Given the description of an element on the screen output the (x, y) to click on. 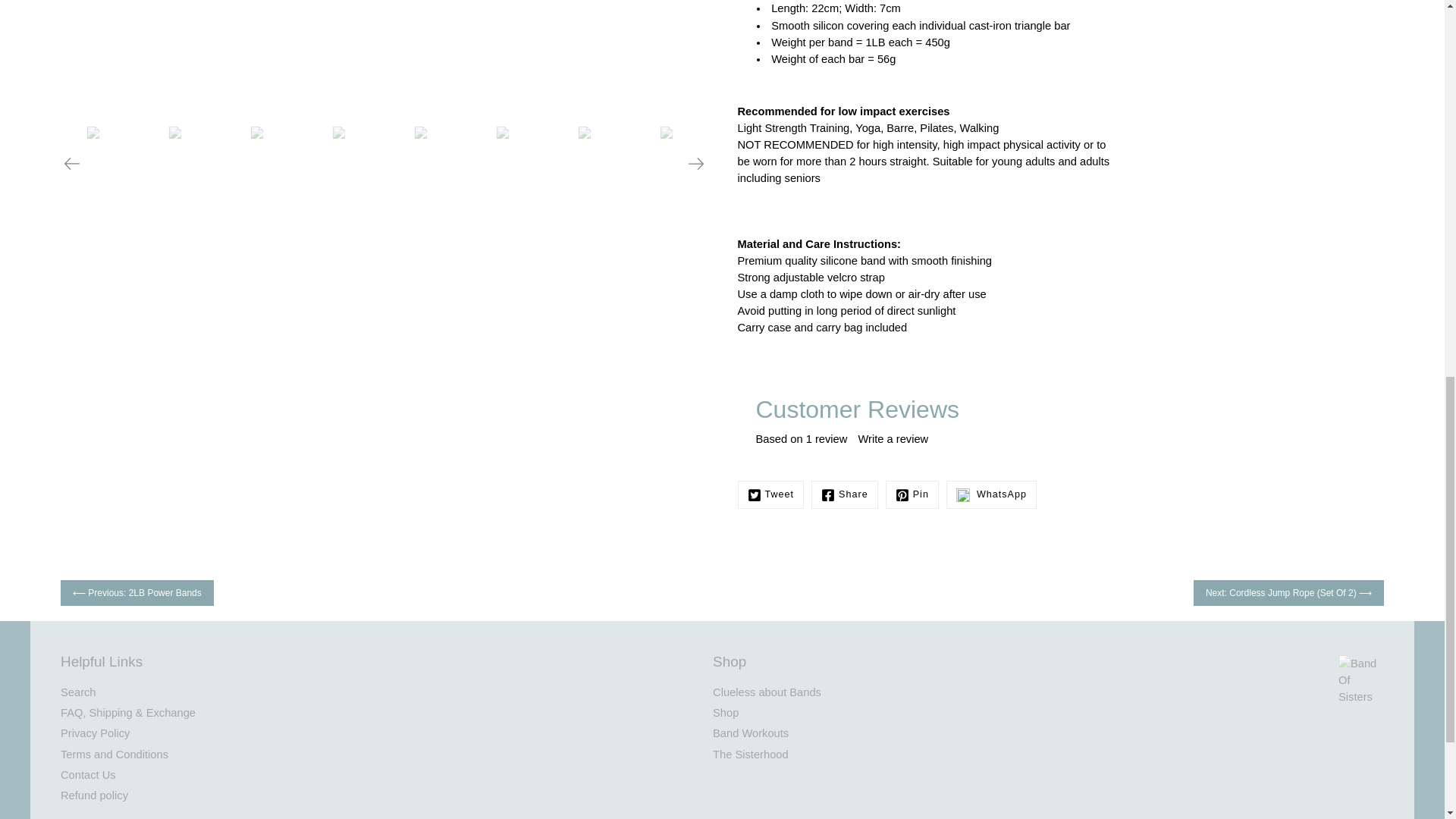
Pinterest (912, 494)
Twitter (769, 494)
Facebook (843, 494)
